Given the description of an element on the screen output the (x, y) to click on. 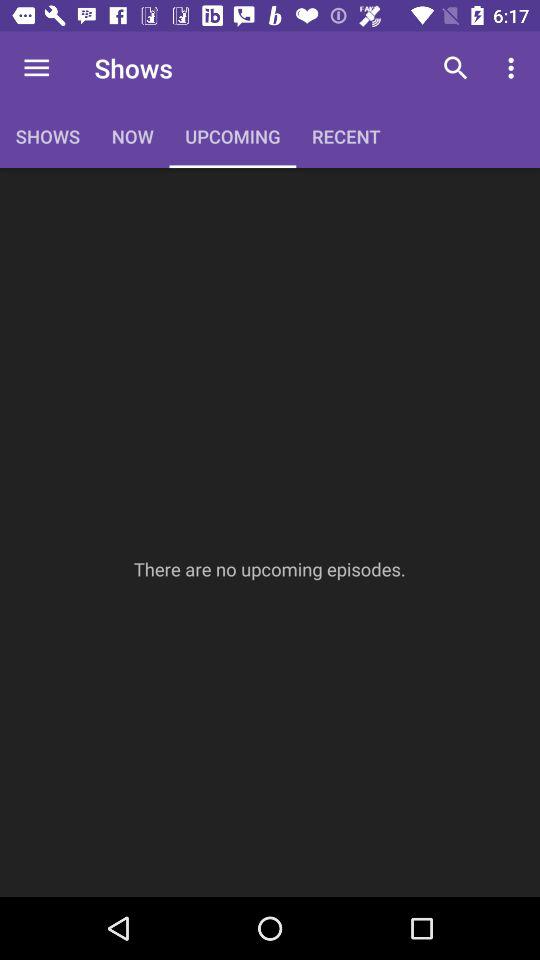
open item above shows item (36, 68)
